Given the description of an element on the screen output the (x, y) to click on. 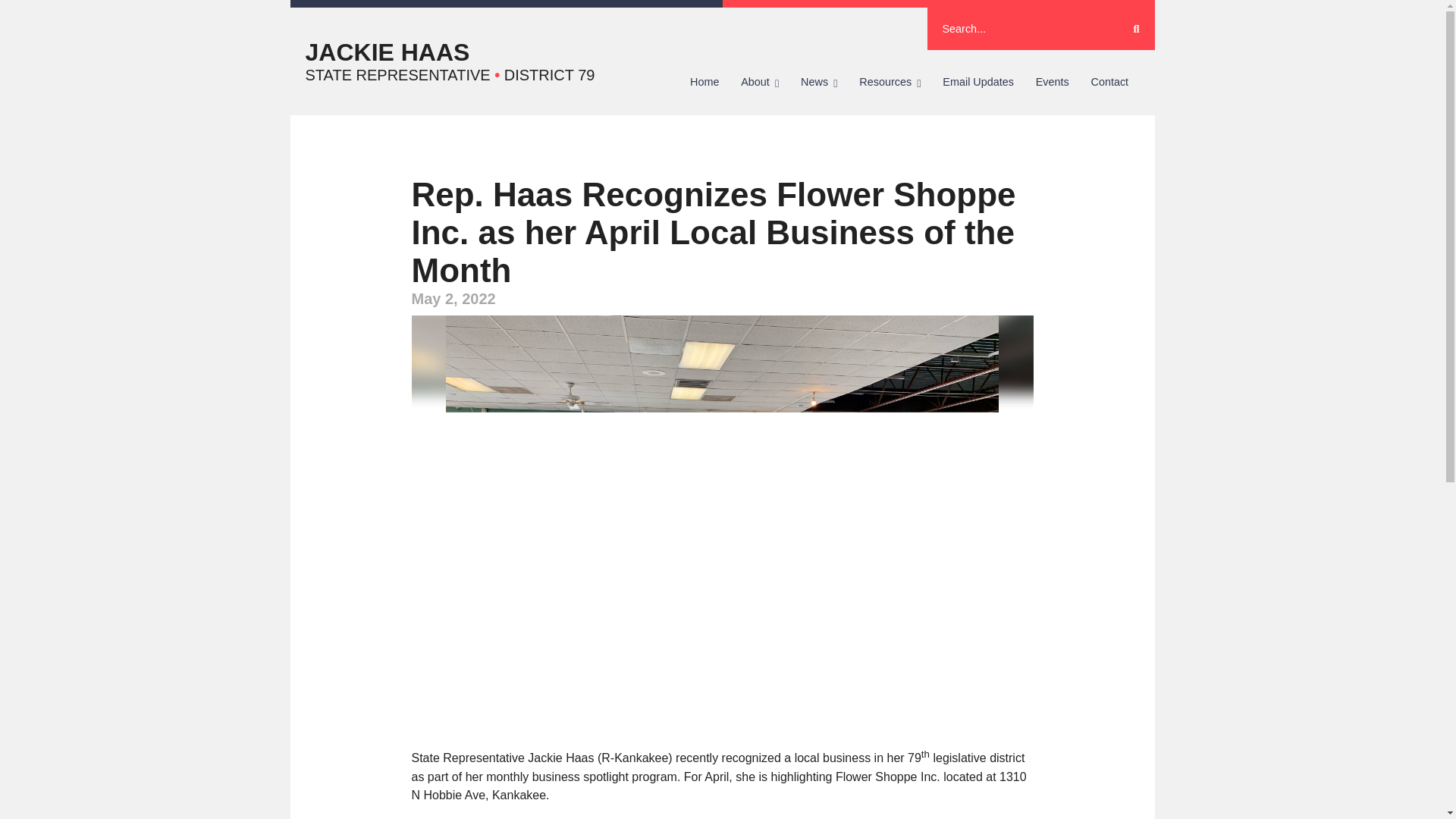
Contact (1109, 82)
About (760, 82)
Resources (889, 82)
Email Updates (978, 82)
Events (1052, 82)
Home (704, 82)
News (819, 82)
